Given the description of an element on the screen output the (x, y) to click on. 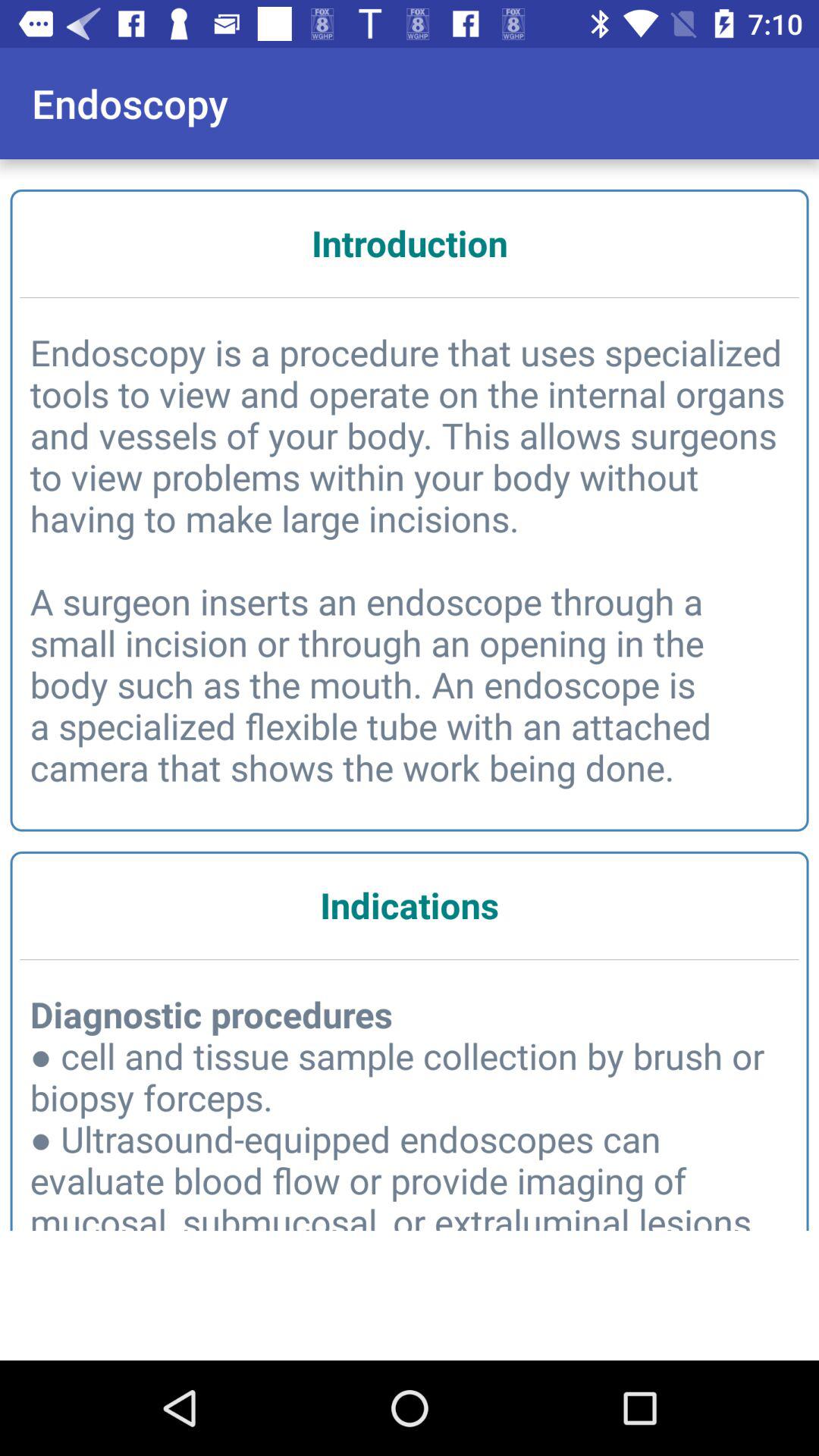
tap item above the indications (409, 559)
